Given the description of an element on the screen output the (x, y) to click on. 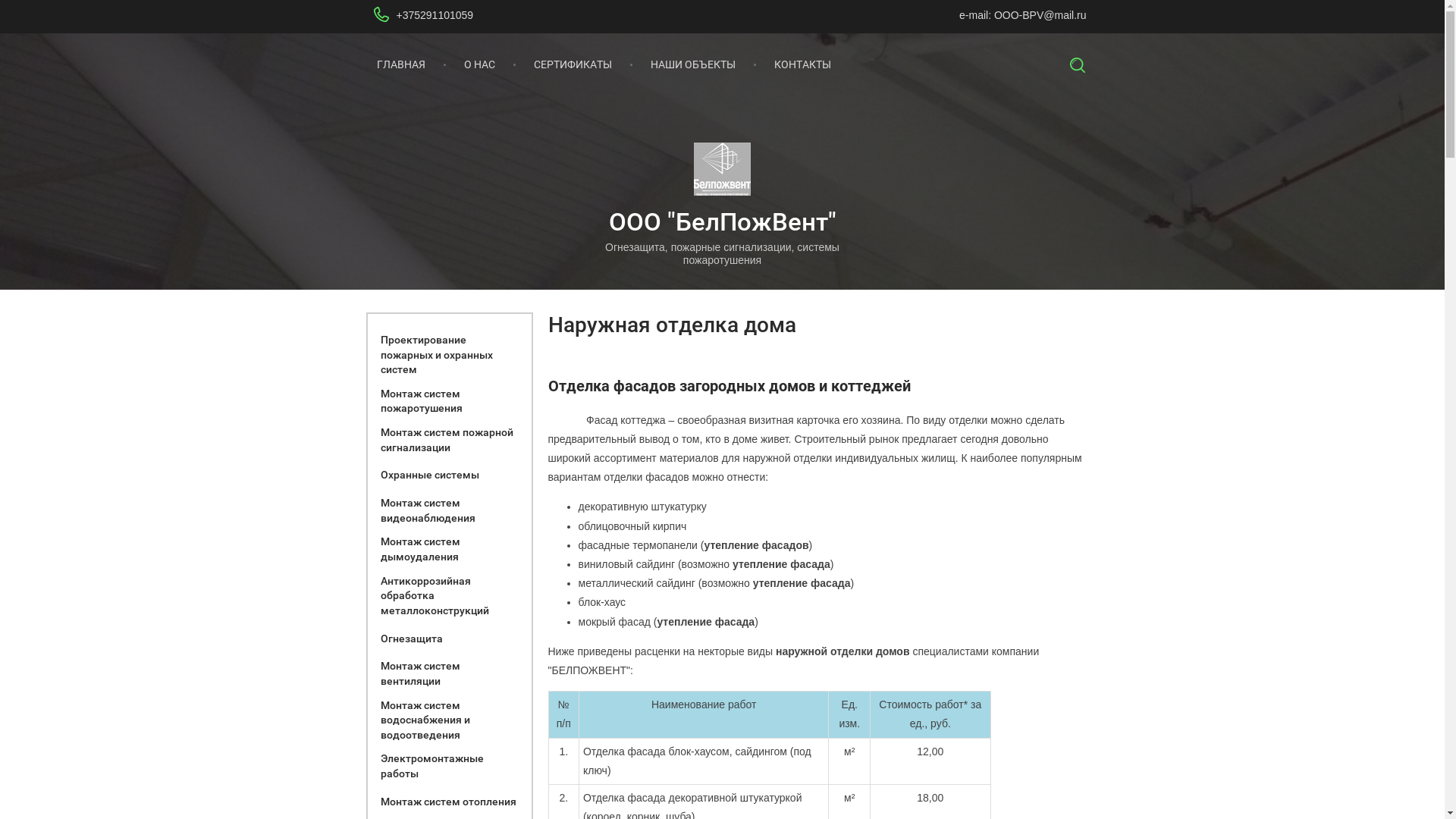
+375291101059 Element type: text (434, 15)
OOO-BPV@mail.ru Element type: text (1040, 15)
